Given the description of an element on the screen output the (x, y) to click on. 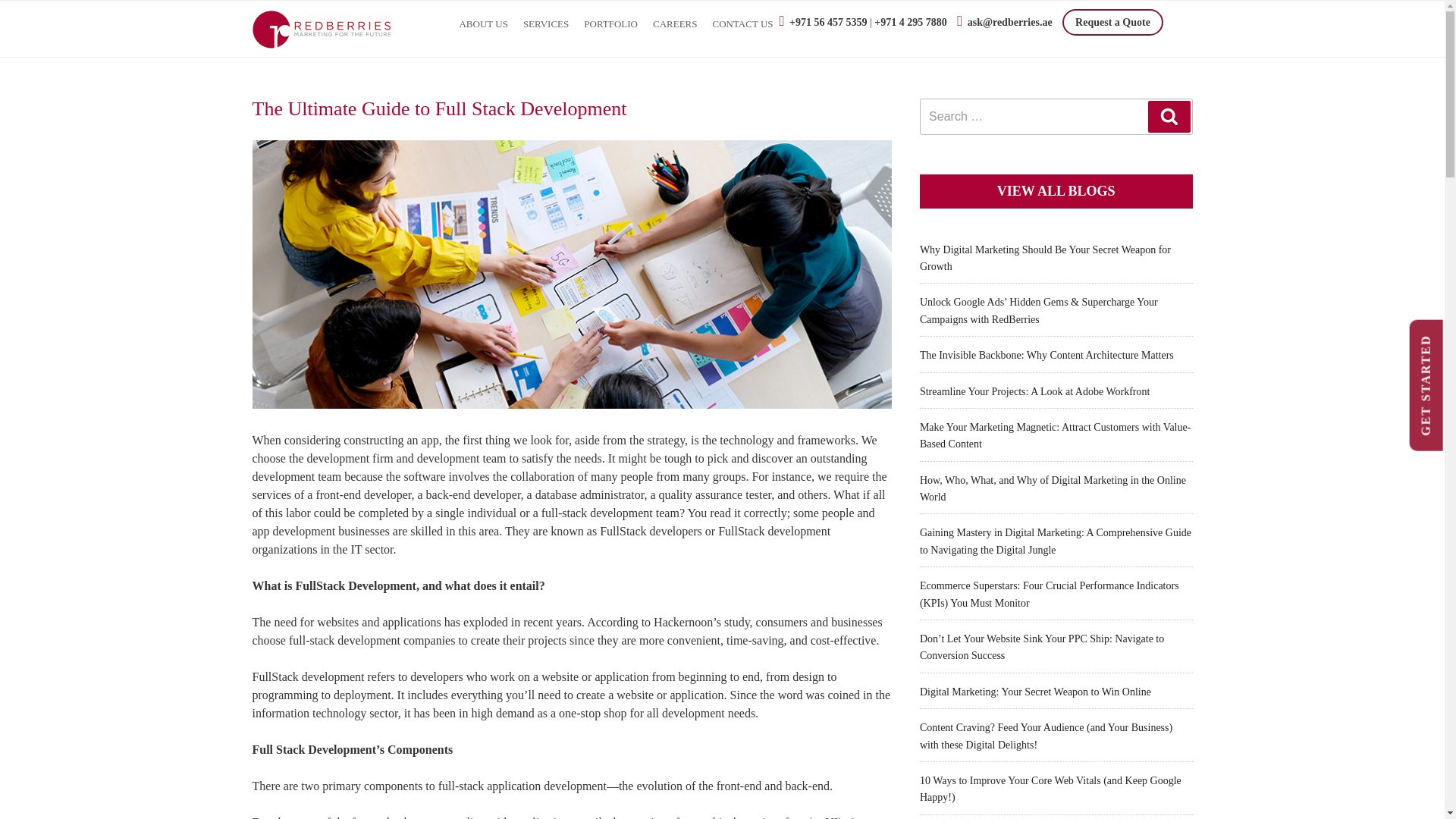
SERVICES (545, 24)
CAREERS (674, 24)
Request a Quote (1112, 22)
PORTFOLIO (610, 24)
Redberries Digital UAE (321, 29)
VIEW ALL BLOGS (1056, 191)
CONTACT US (742, 24)
ABOUT US (483, 24)
Search (1169, 116)
